Given the description of an element on the screen output the (x, y) to click on. 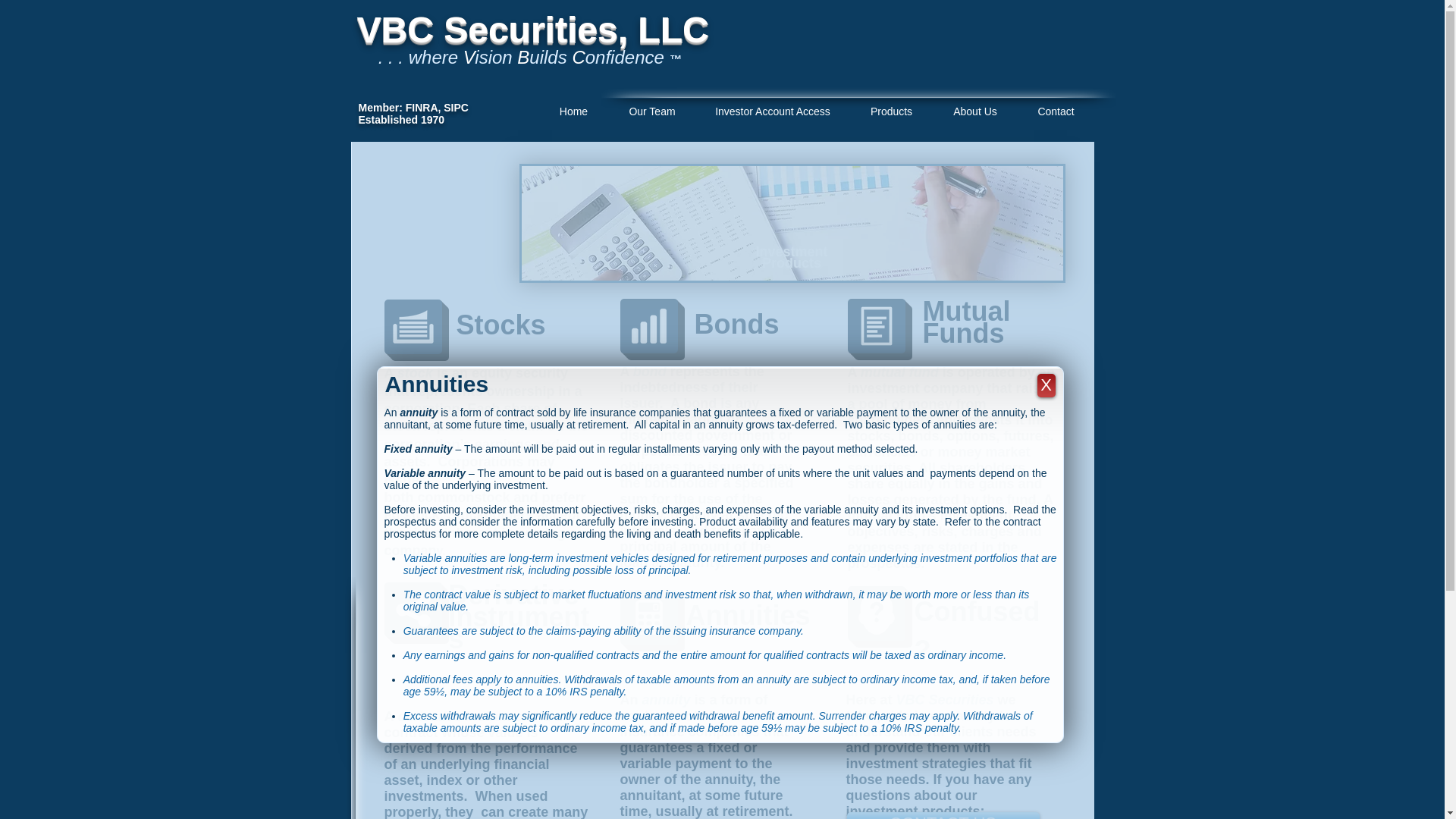
Market Analysis  (791, 222)
decision-xxl.png (877, 613)
Contact (1055, 111)
calculator-2-xxl.png (647, 616)
Our Team (651, 111)
sharethis-xxl.png (412, 609)
Investor Account Access (772, 111)
Home (573, 111)
CONTACT US (942, 815)
